Given the description of an element on the screen output the (x, y) to click on. 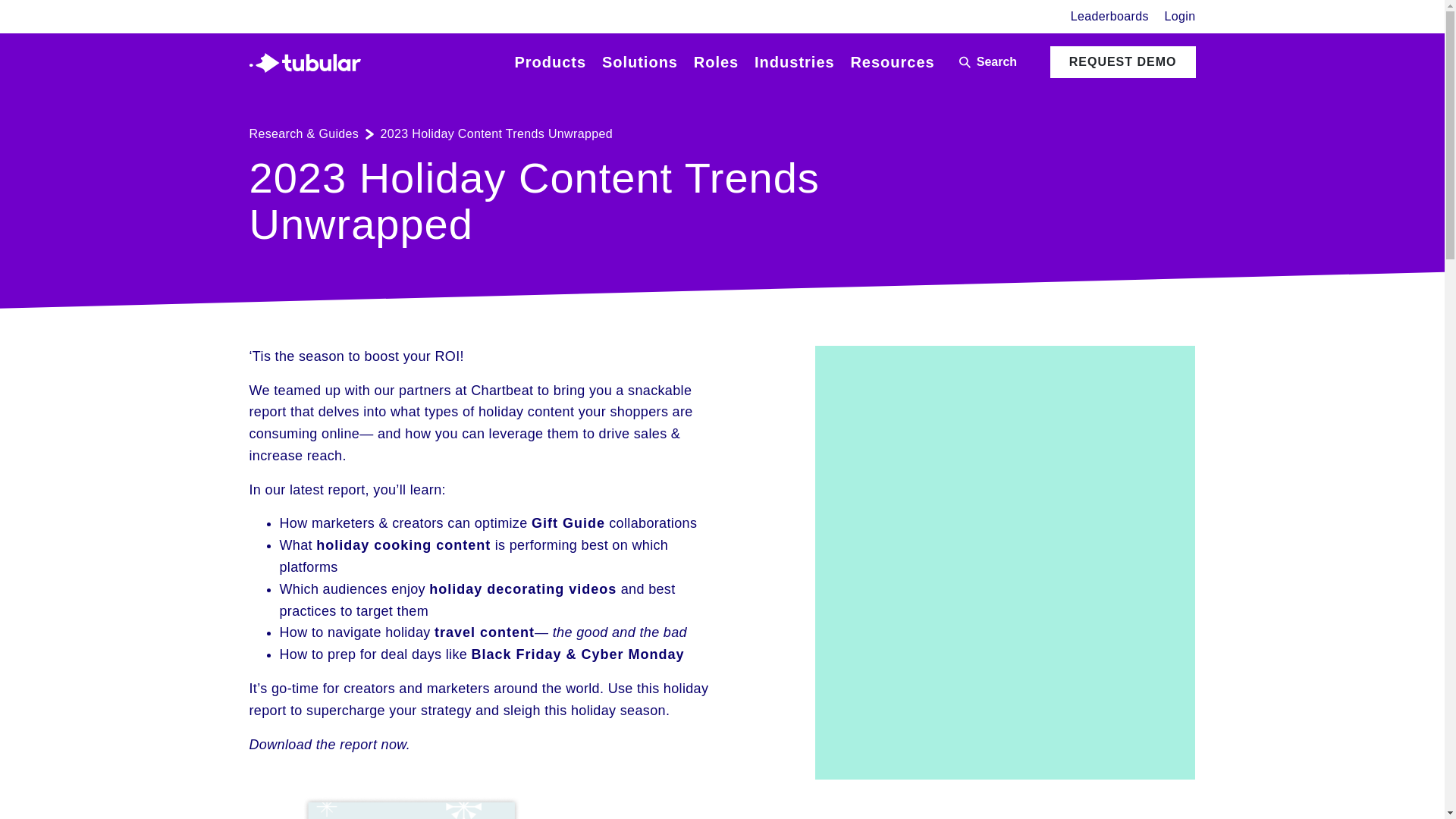
Products (549, 62)
Products (549, 62)
Leaderboards (1109, 17)
Leaderboards (1109, 17)
Login (1179, 17)
Solutions (640, 62)
Login (1179, 17)
